Given the description of an element on the screen output the (x, y) to click on. 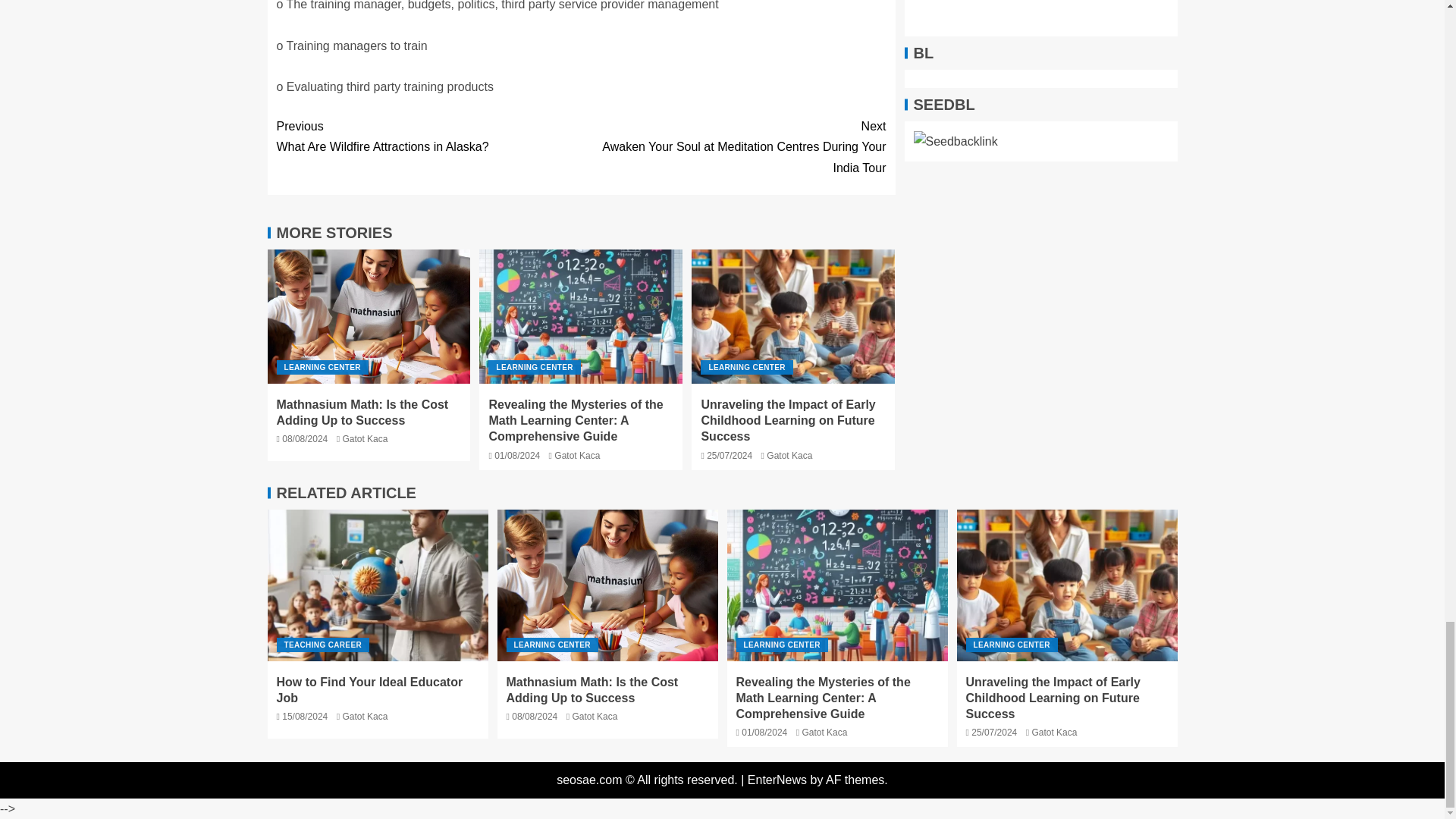
Gatot Kaca (364, 439)
Mathnasium Math: Is the Cost Adding Up to Success (607, 584)
Mathnasium Math: Is the Cost Adding Up to Success (362, 412)
LEARNING CENTER (428, 136)
Gatot Kaca (746, 367)
Mathnasium Math: Is the Cost Adding Up to Success (576, 455)
Gatot Kaca (368, 316)
